Given the description of an element on the screen output the (x, y) to click on. 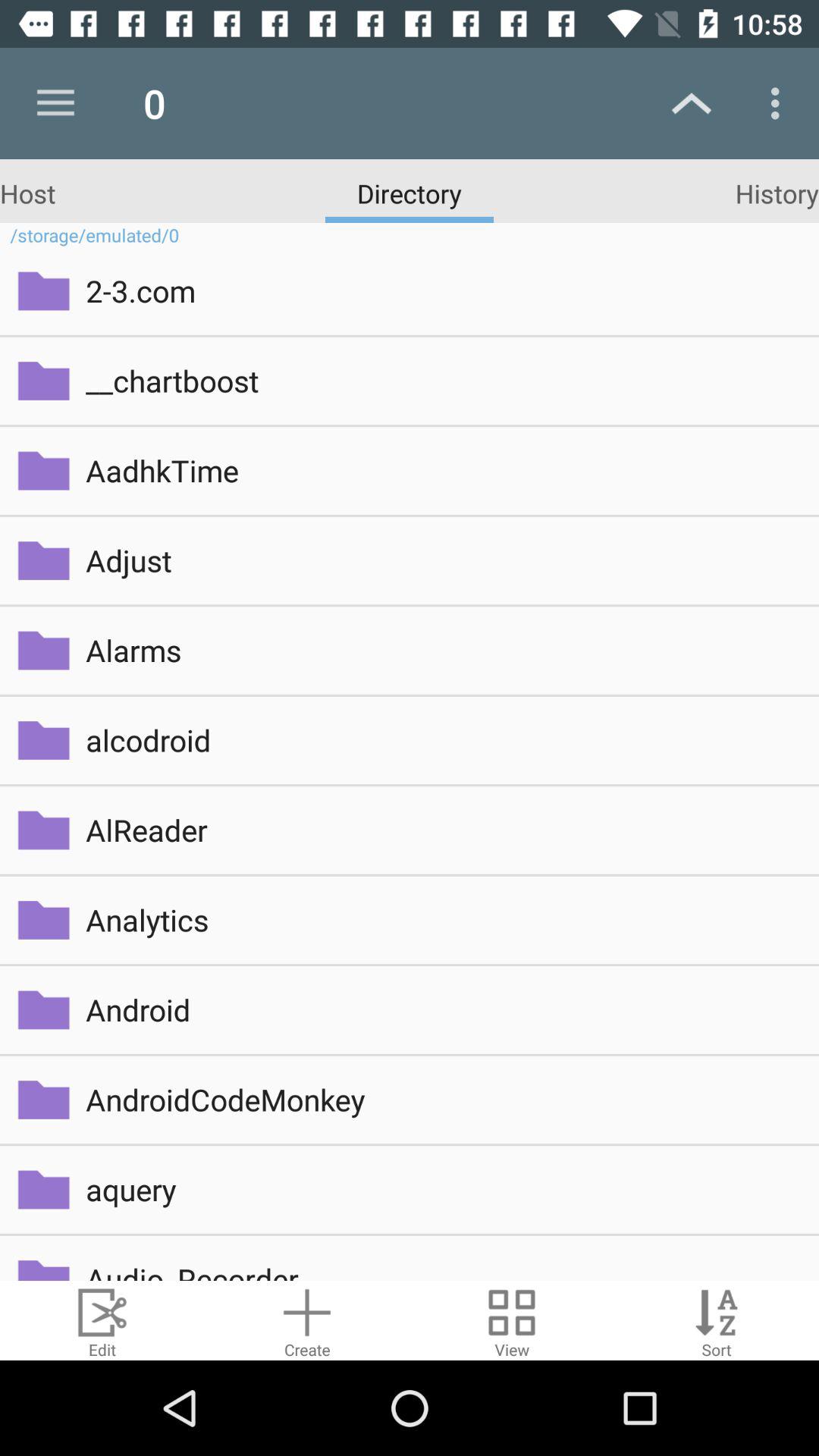
create (306, 1320)
